Given the description of an element on the screen output the (x, y) to click on. 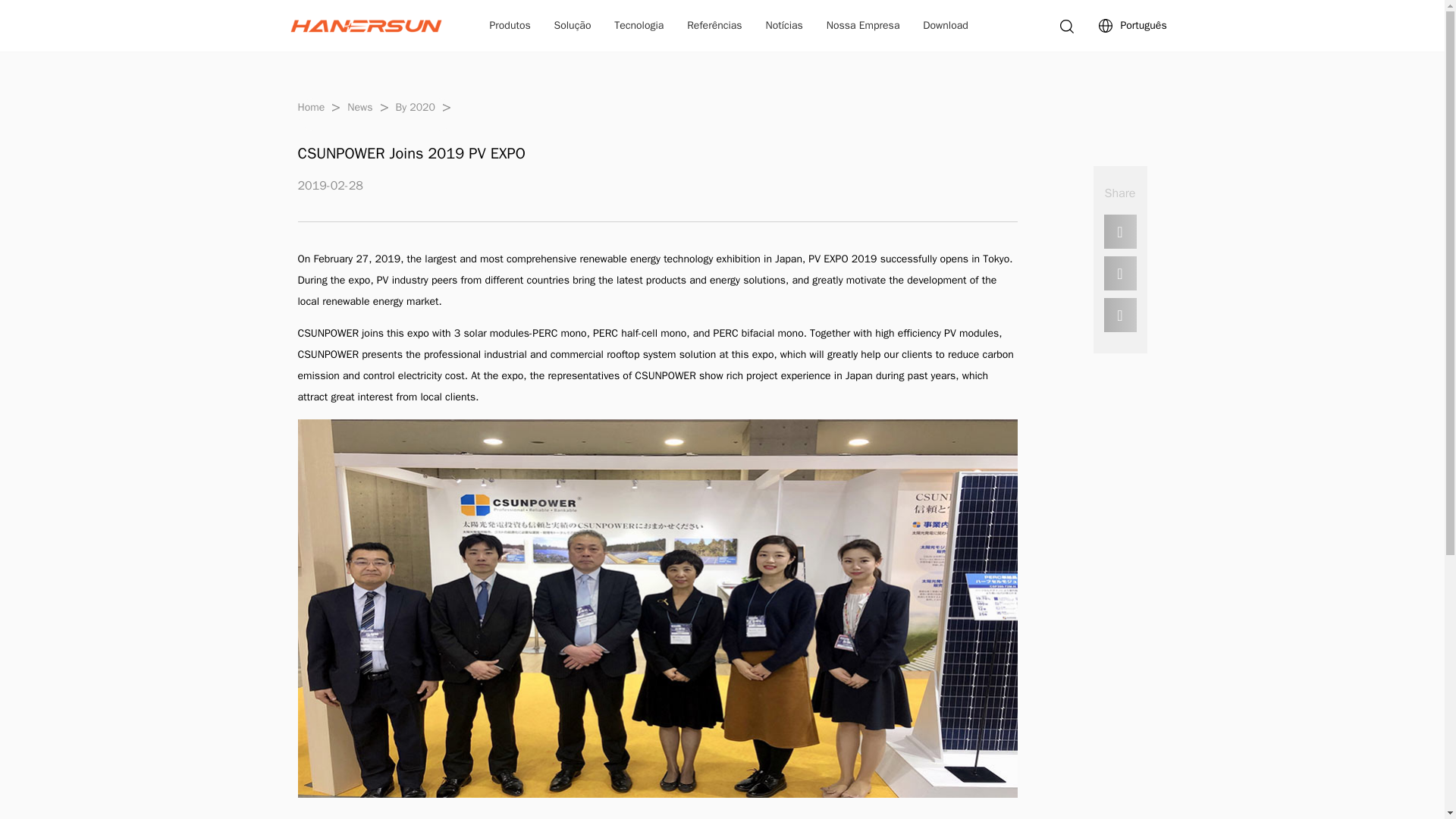
Produtos (509, 25)
Download (945, 25)
Download (945, 25)
Tecnologia (638, 25)
Nossa Empresa (863, 25)
Tecnologia (638, 25)
Produtos (509, 25)
Nossa Empresa (863, 25)
